Given the description of an element on the screen output the (x, y) to click on. 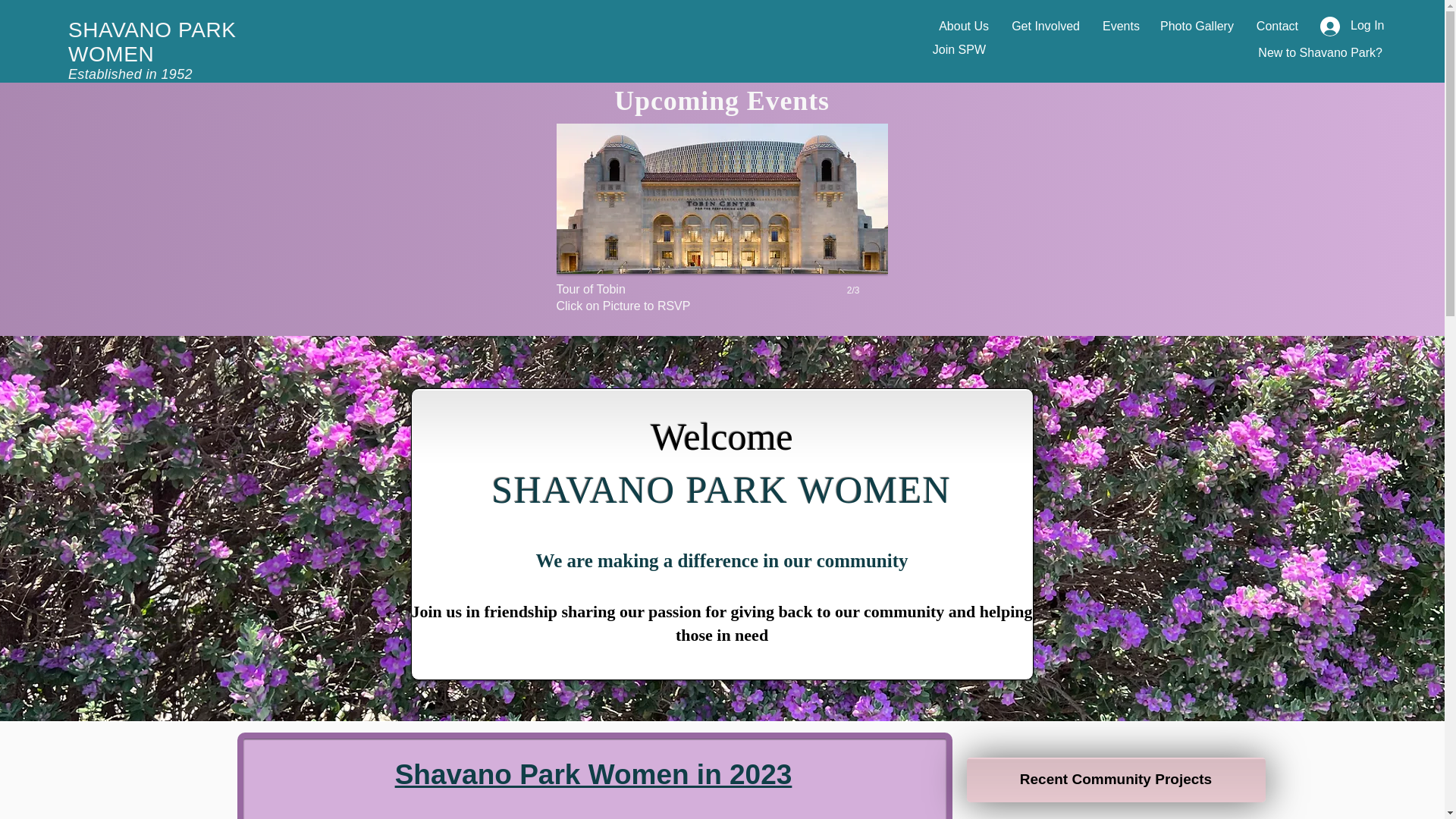
New to Shavano Park? (1319, 51)
SHAVANO PARK WOMEN (151, 42)
About Us (963, 26)
Contact (1276, 26)
Log In (1344, 26)
Join SPW (959, 49)
Events (722, 224)
Get Involved (1119, 26)
